Given the description of an element on the screen output the (x, y) to click on. 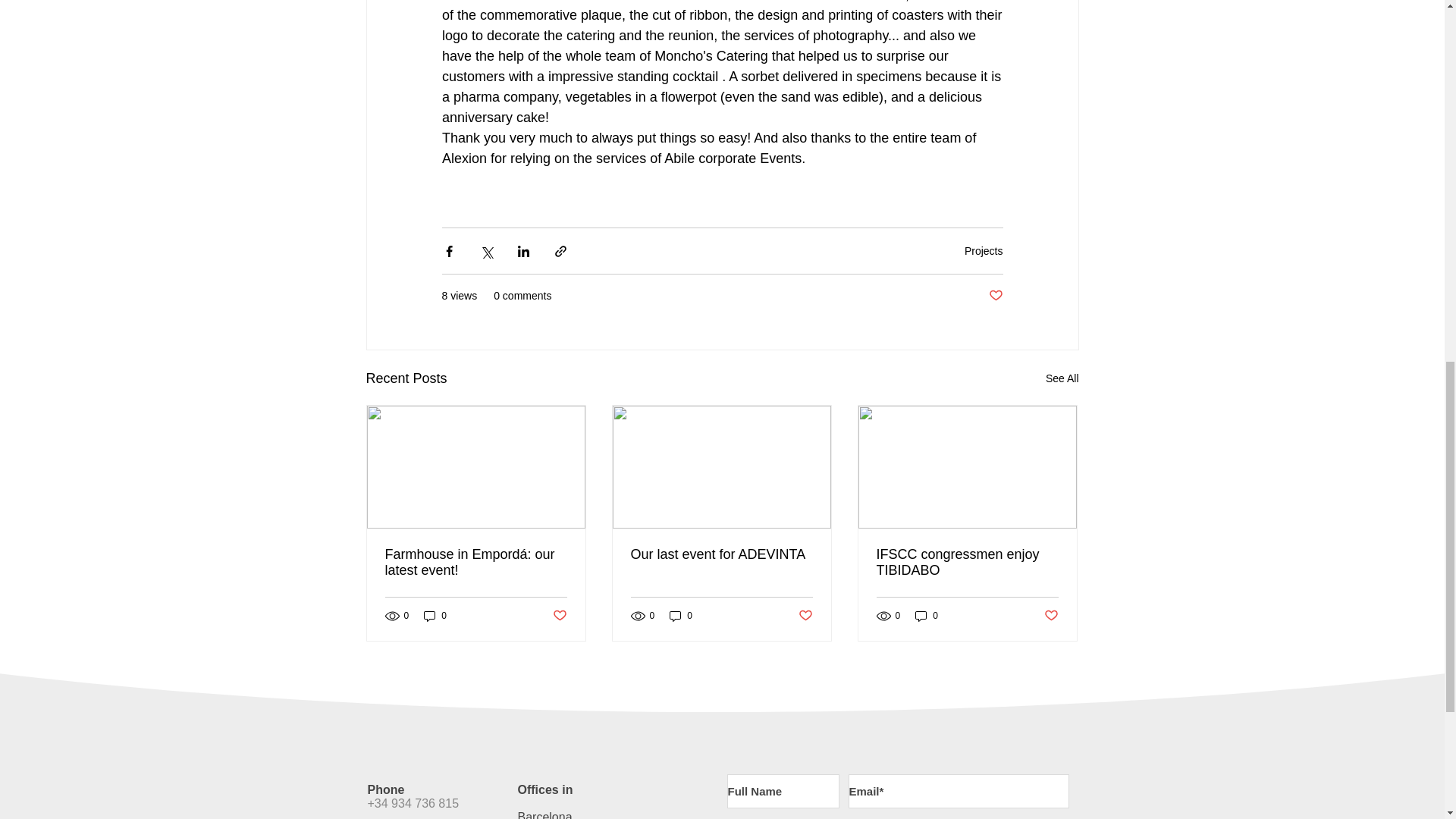
Projects (983, 250)
Post not marked as liked (558, 616)
Subscribe (1018, 818)
0 (435, 615)
Post not marked as liked (995, 295)
Our last event for ADEVINTA (721, 554)
See All (1061, 378)
0 (681, 615)
Post not marked as liked (1050, 616)
IFSCC congressmen enjoy TIBIDABO (967, 562)
